Given the description of an element on the screen output the (x, y) to click on. 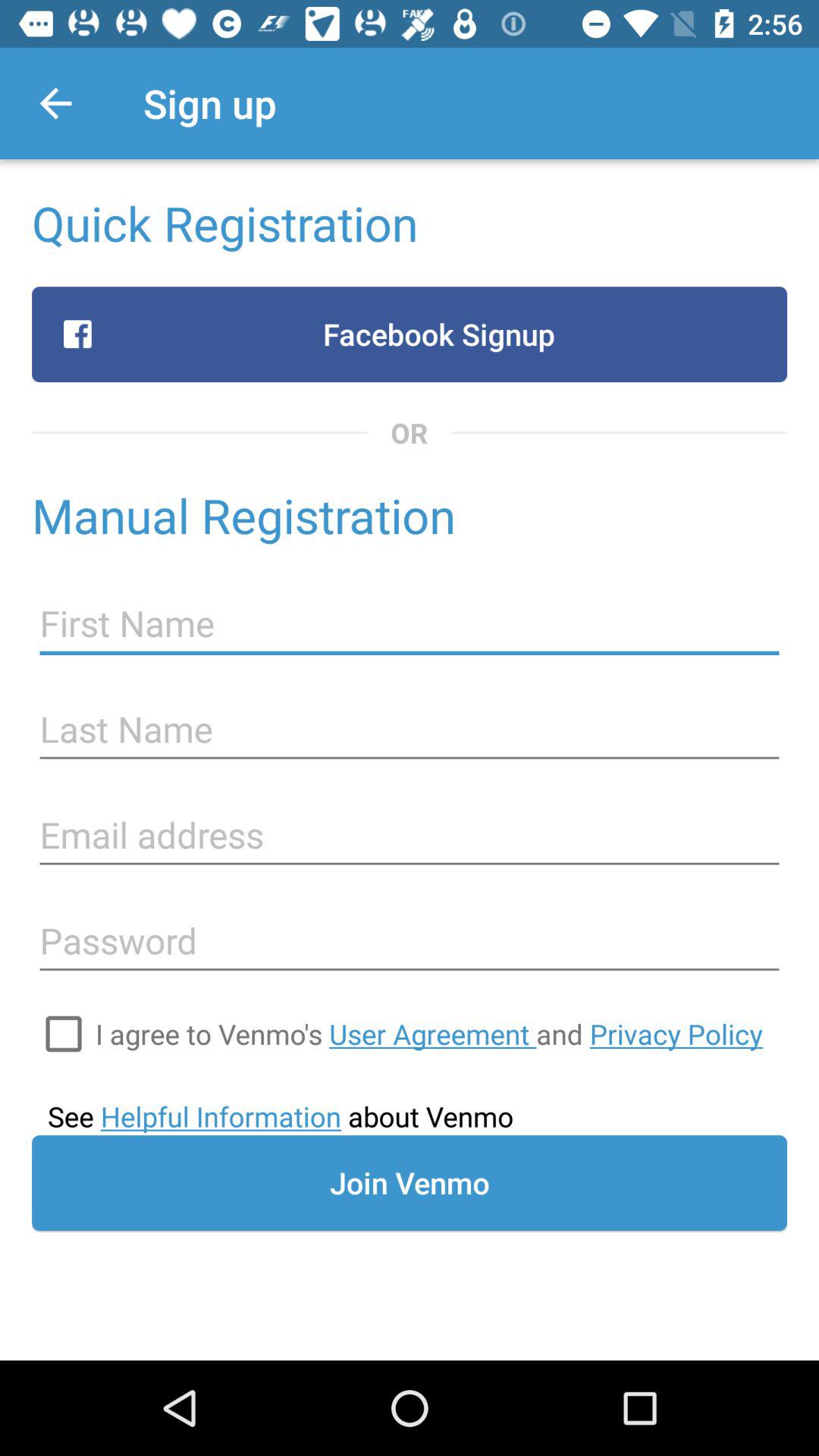
select the item next to i agree to item (63, 1033)
